Given the description of an element on the screen output the (x, y) to click on. 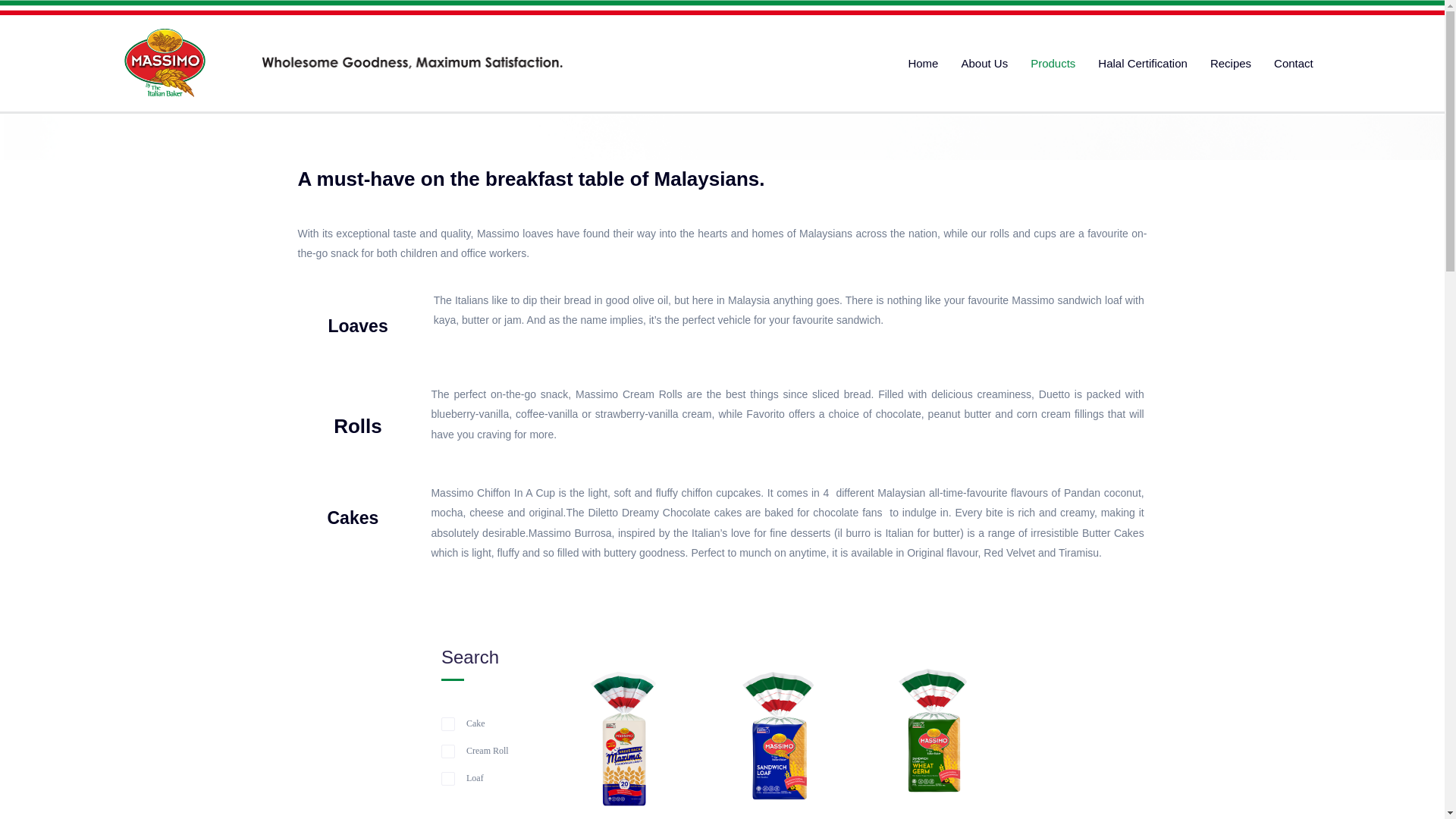
Home (922, 62)
Recipes (1229, 62)
About Us (983, 62)
Contact (1293, 62)
Products (1052, 62)
Halal Certification (1142, 62)
